Given the description of an element on the screen output the (x, y) to click on. 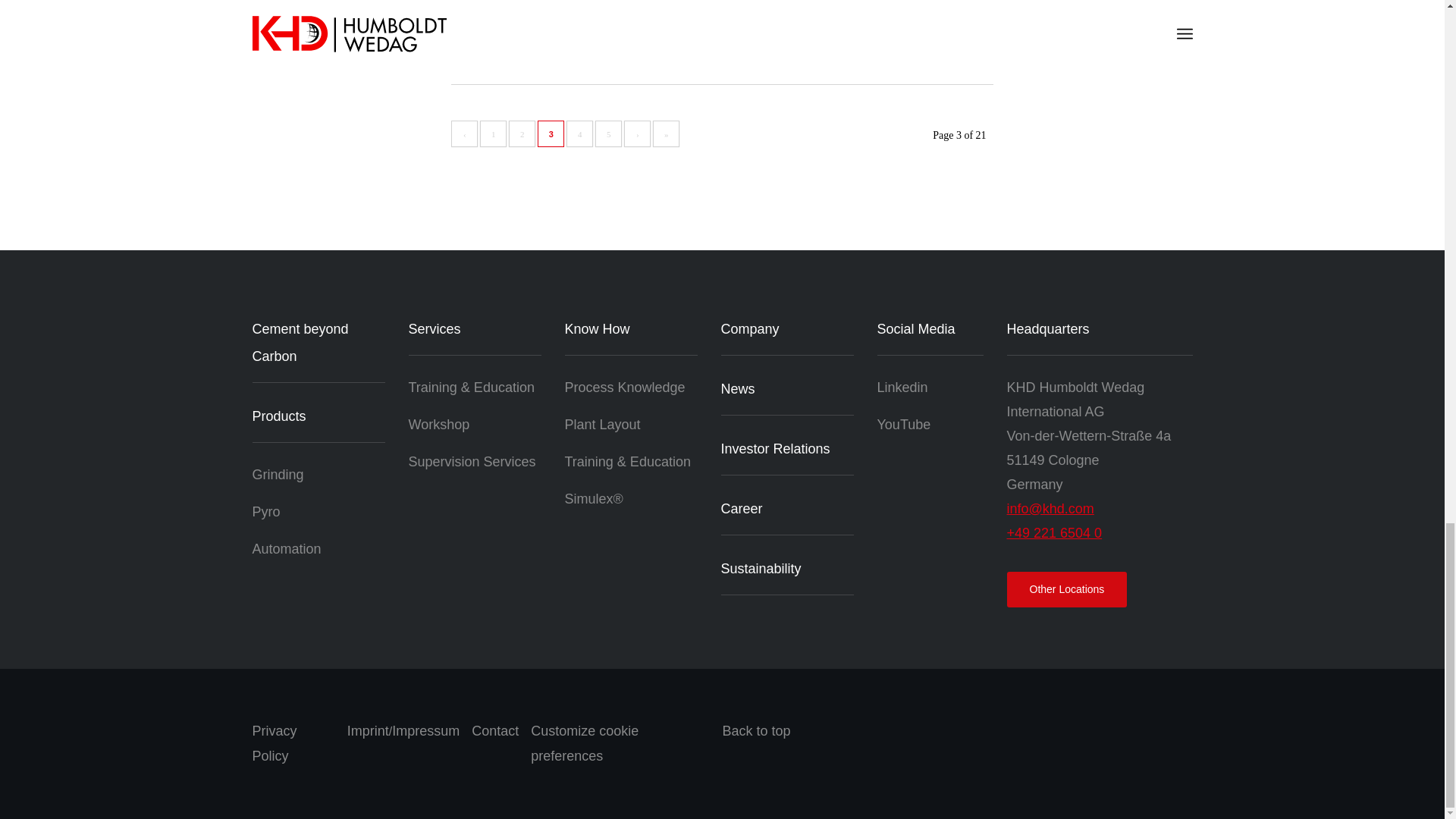
2 (521, 133)
Read more (481, 40)
4 (579, 133)
1 (493, 133)
